Given the description of an element on the screen output the (x, y) to click on. 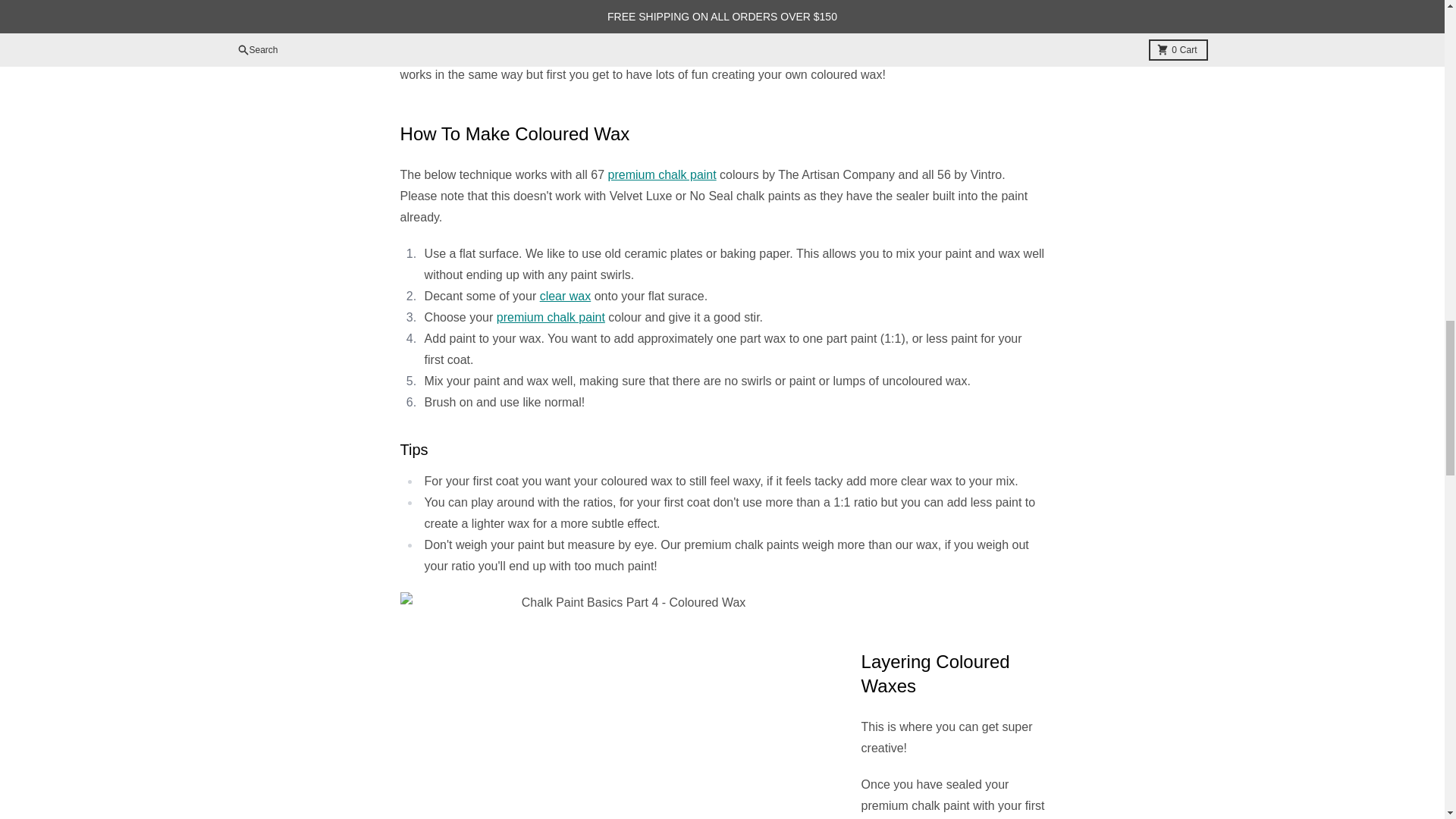
Premium Chalk Paint (550, 317)
Clear Wax (604, 52)
Premium Chalk Paint (662, 174)
Clear Wax (565, 295)
Dark Wax (777, 52)
